Given the description of an element on the screen output the (x, y) to click on. 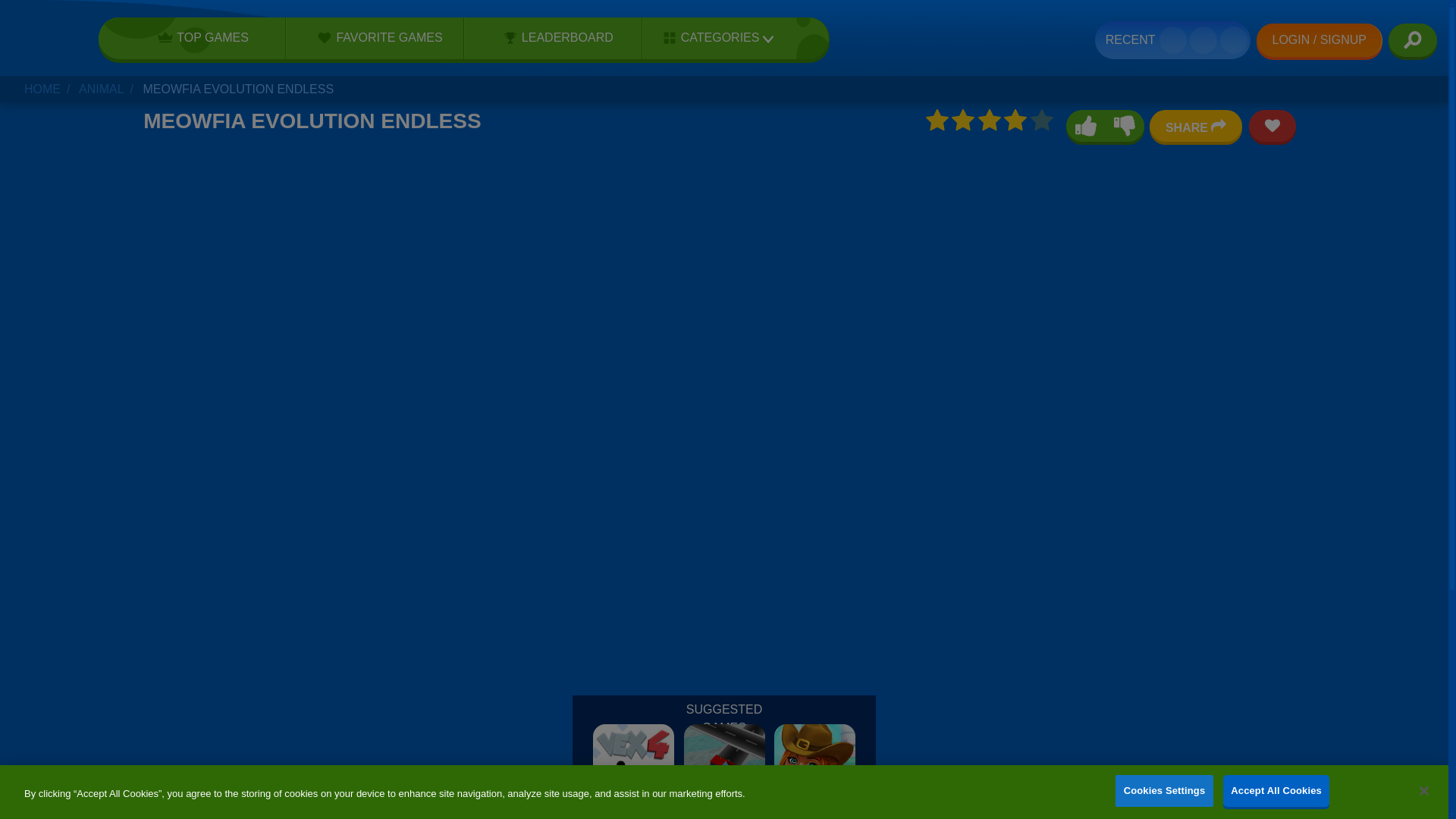
TOP GAMES (197, 37)
FAVORITE GAMES (374, 37)
LEADERBOARD (553, 37)
CATEGORIES (712, 38)
